Given the description of an element on the screen output the (x, y) to click on. 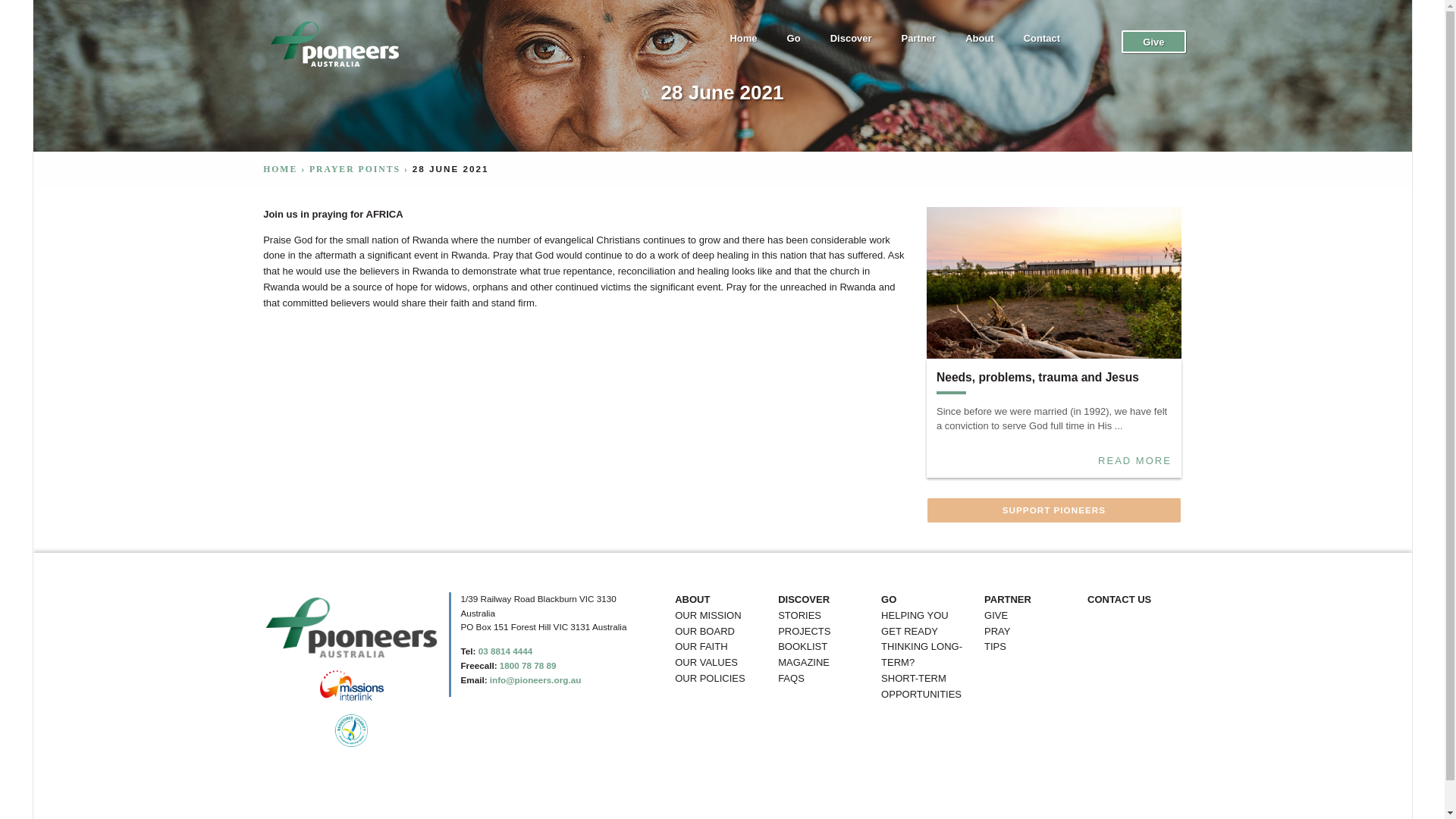
BOOKLIST (802, 647)
OUR BOARD (705, 631)
PRAYER POINTS (354, 169)
STORIES (799, 616)
Partner (918, 41)
OUR FAITH (700, 647)
OUR MISSION (708, 616)
1800 78 78 89 (527, 665)
Give (1152, 41)
PROJECTS (803, 631)
03 8814 4444 (505, 651)
Search (21, 7)
About (979, 41)
Home (743, 41)
OUR POLICIES (709, 678)
